Given the description of an element on the screen output the (x, y) to click on. 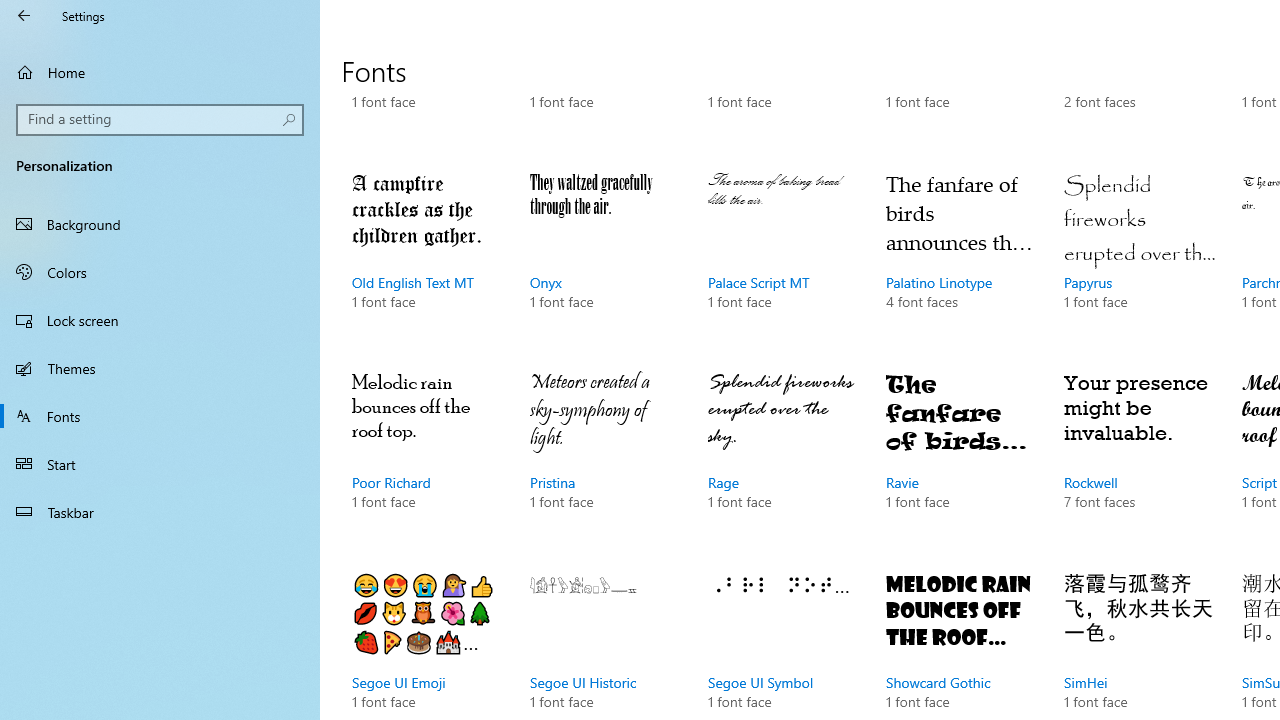
Colors (160, 271)
Search box, Find a setting (160, 119)
Onyx, 1 font face (604, 260)
MS UI Gothic, 1 font face (604, 80)
Poor Richard, 1 font face (426, 460)
Papyrus, 1 font face (1138, 260)
Myanmar Text, 2 font faces (1138, 80)
MT Extra, 1 font face (783, 80)
Back (24, 15)
Themes (160, 367)
Palatino Linotype, 4 font faces (961, 260)
Rockwell, 7 font faces (1138, 460)
Pristina, 1 font face (604, 460)
Home (160, 71)
Lock screen (160, 319)
